Given the description of an element on the screen output the (x, y) to click on. 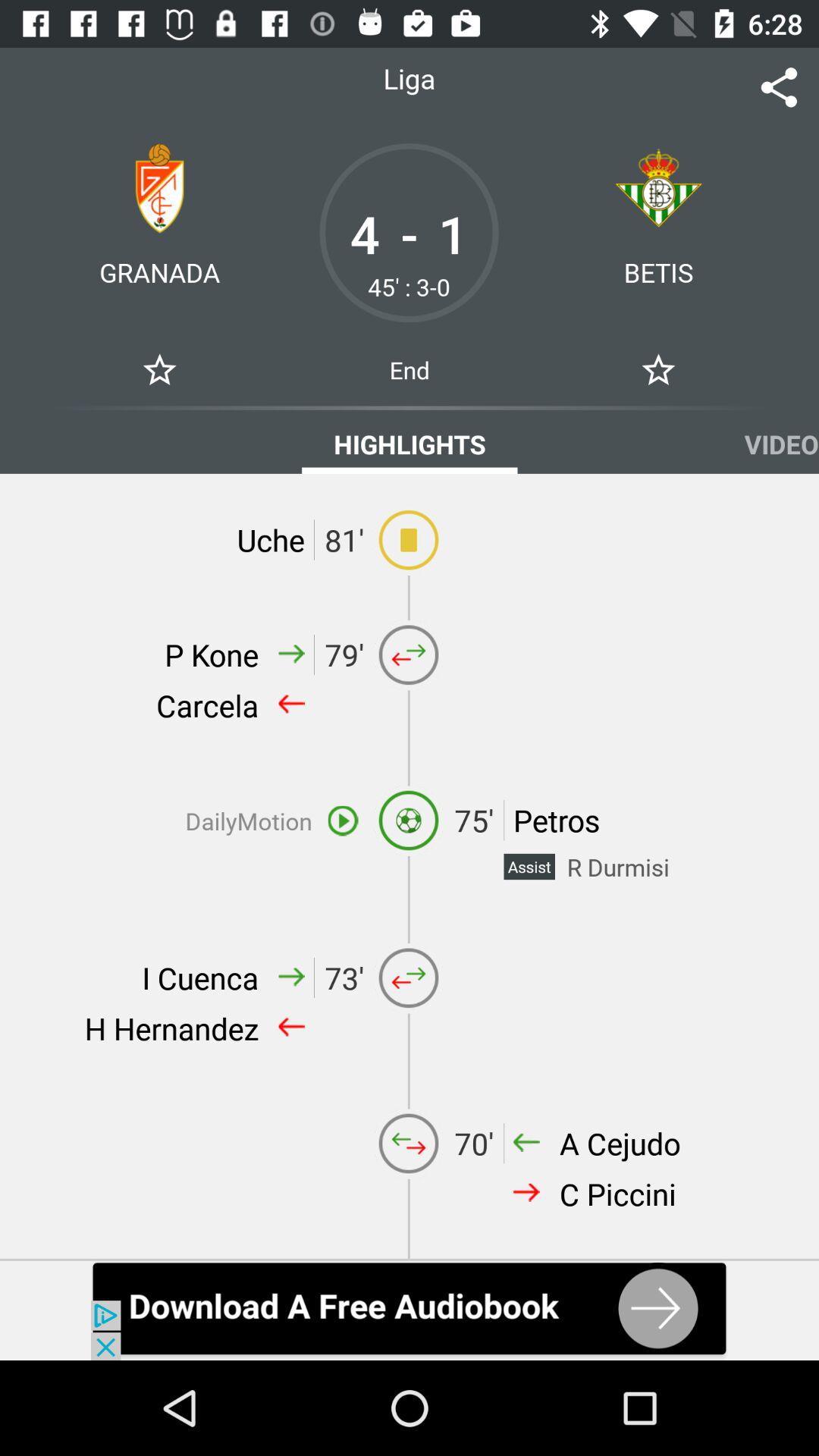
click the share option (779, 87)
